Given the description of an element on the screen output the (x, y) to click on. 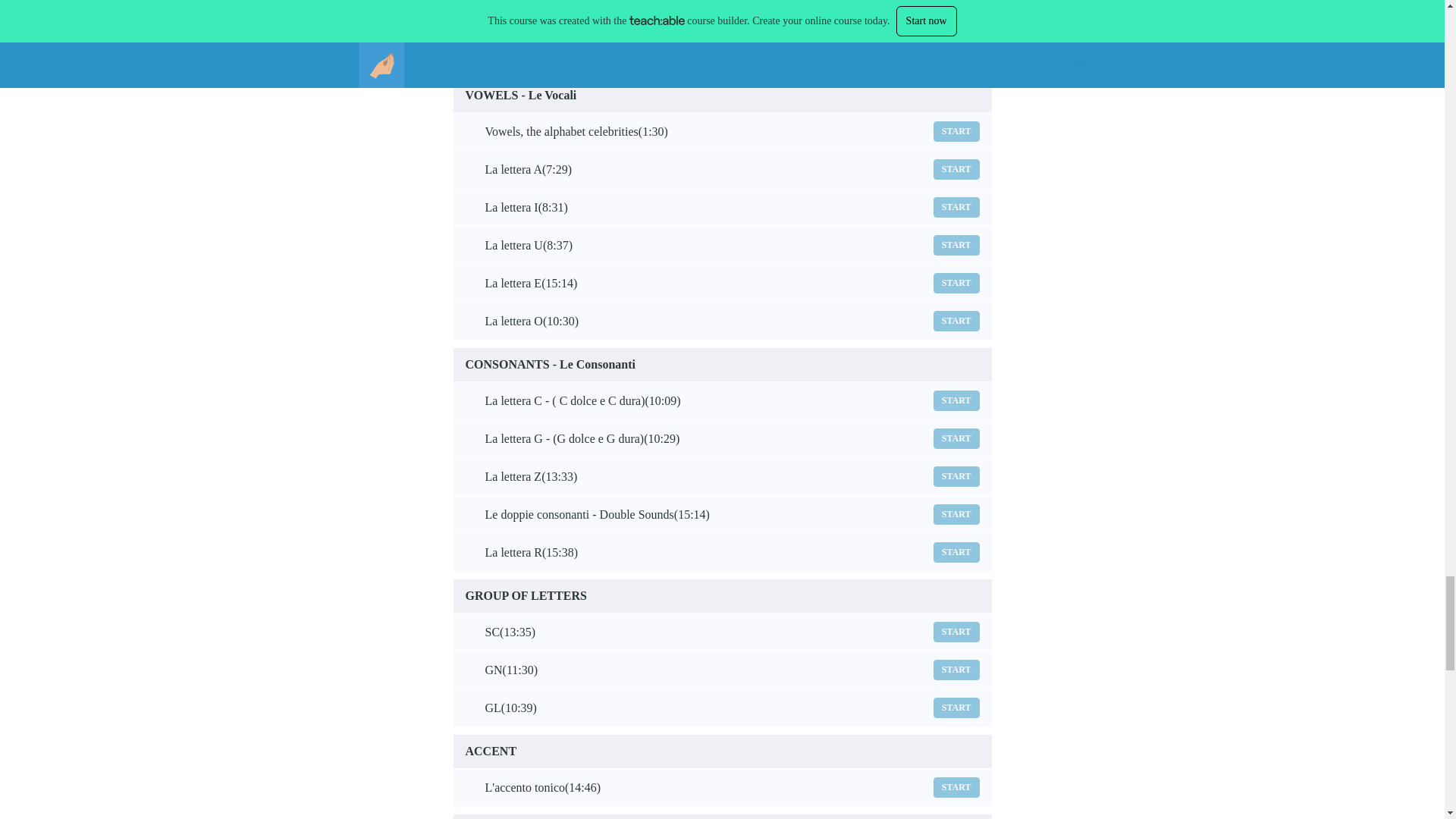
START (956, 552)
START (956, 51)
START (956, 707)
START (956, 670)
START (956, 631)
START (956, 131)
START (956, 400)
START (956, 438)
START (956, 321)
START (956, 514)
